Given the description of an element on the screen output the (x, y) to click on. 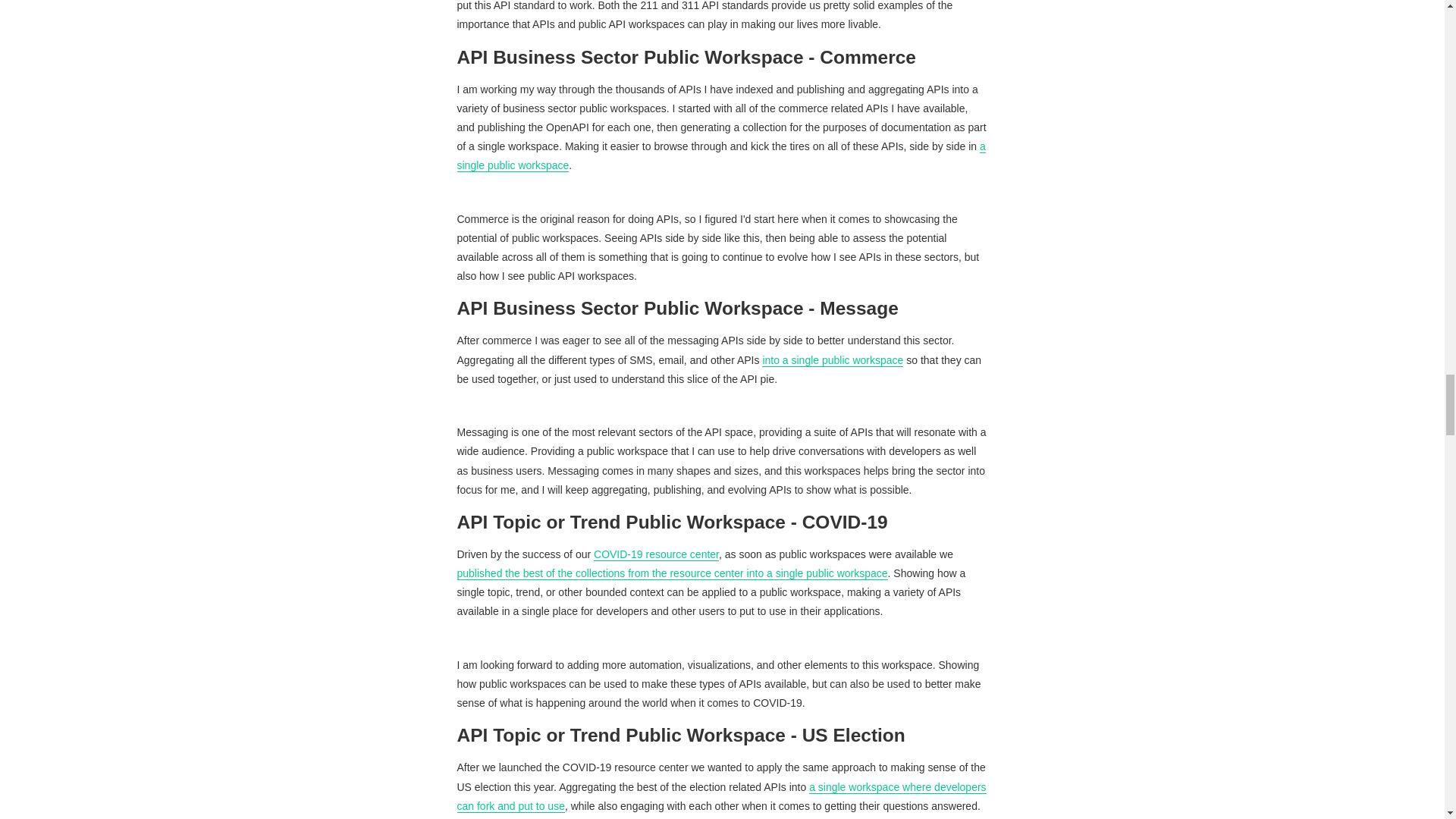
a single public workspace (721, 155)
COVID-19 resource center (656, 554)
into a single public workspace (831, 359)
